Given the description of an element on the screen output the (x, y) to click on. 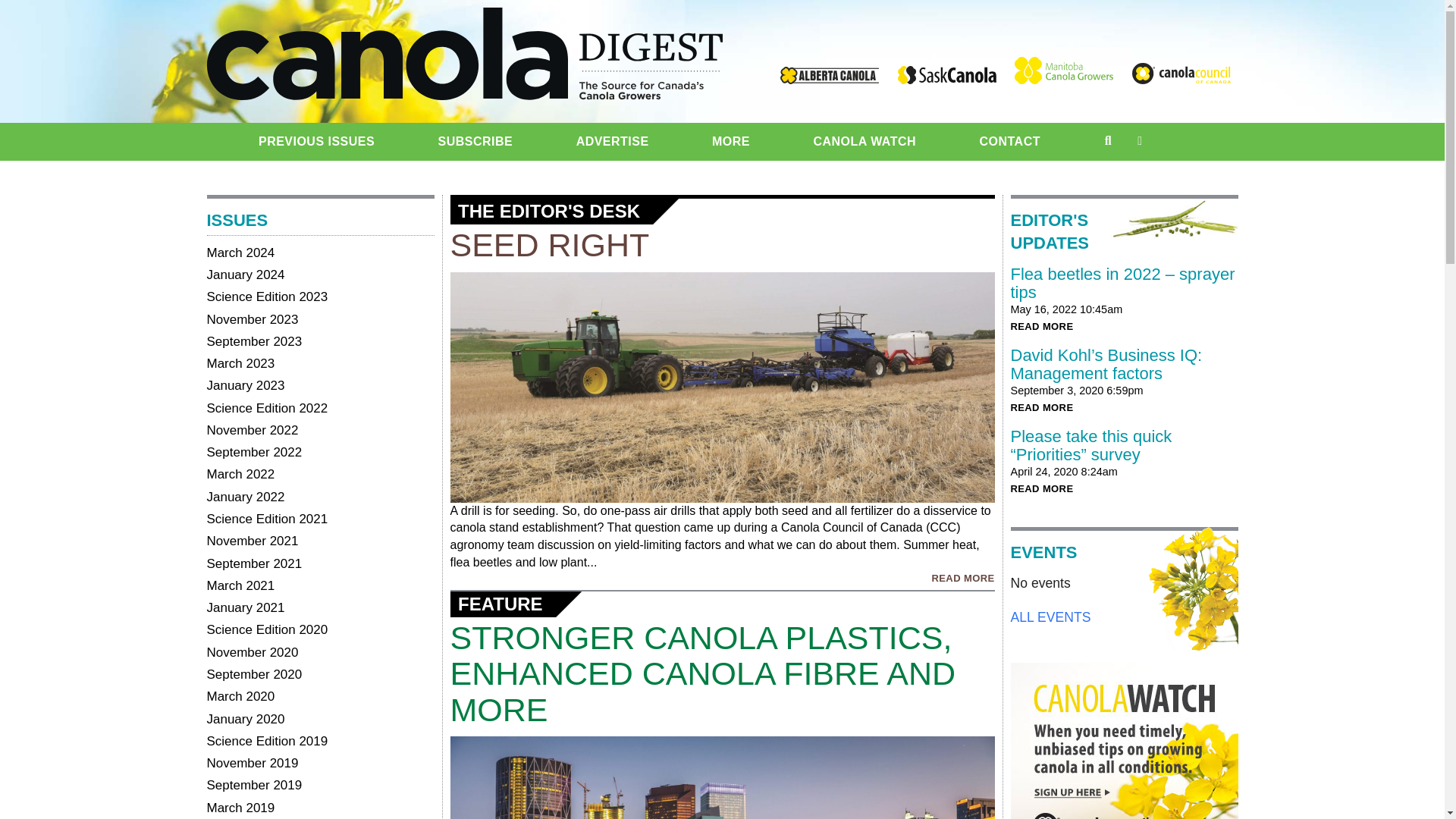
March 2024 (240, 252)
January 2024 (244, 274)
ADVERTISE (612, 141)
Science Edition 2021 (266, 518)
MORE (730, 141)
November 2023 (252, 319)
September 2022 (253, 452)
January 2022 (244, 496)
Science Edition 2022 (266, 408)
PREVIOUS ISSUES (316, 141)
